Given the description of an element on the screen output the (x, y) to click on. 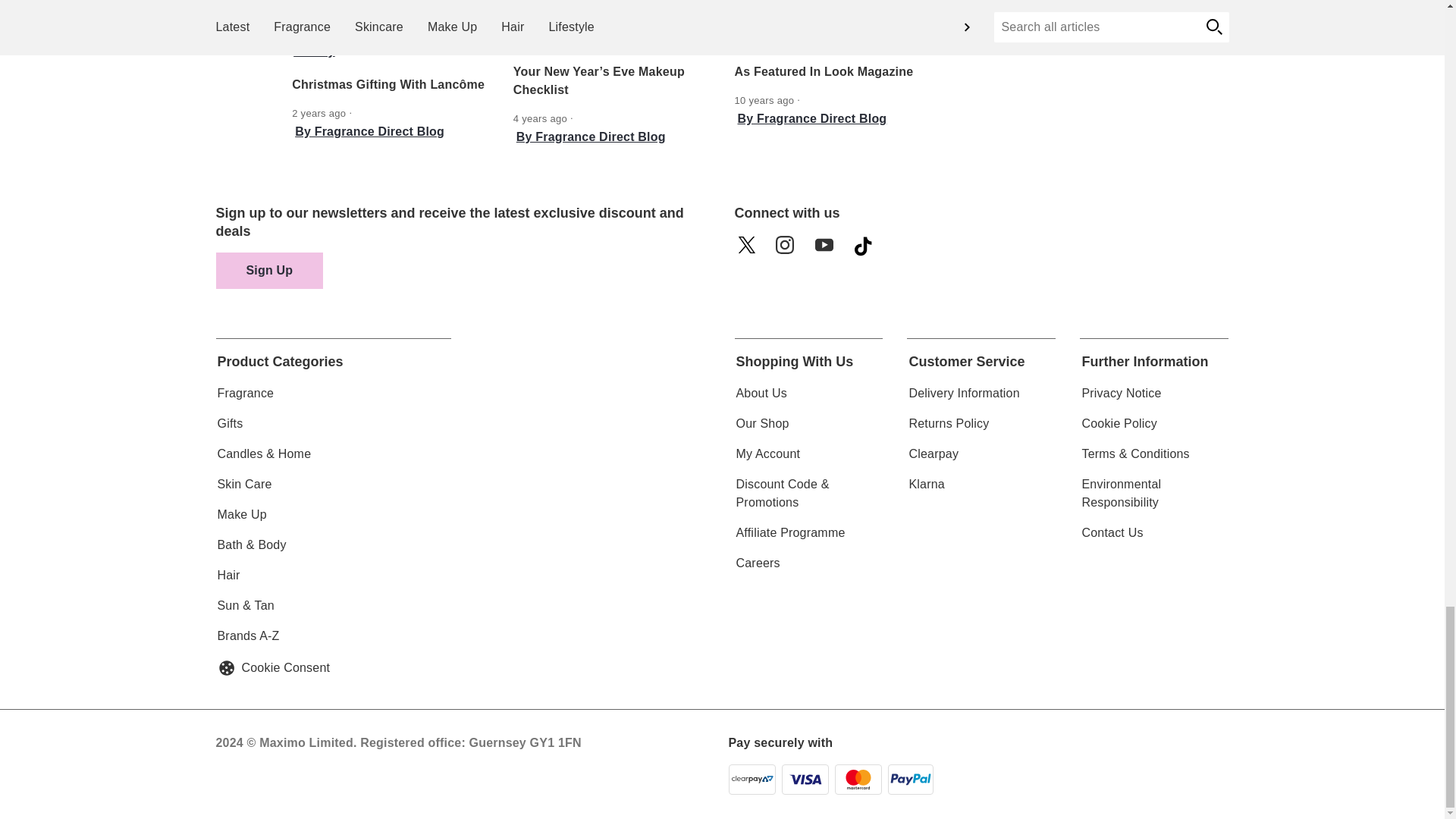
instagram (789, 250)
youtube (828, 250)
twitter (750, 250)
tiktok (868, 250)
